Given the description of an element on the screen output the (x, y) to click on. 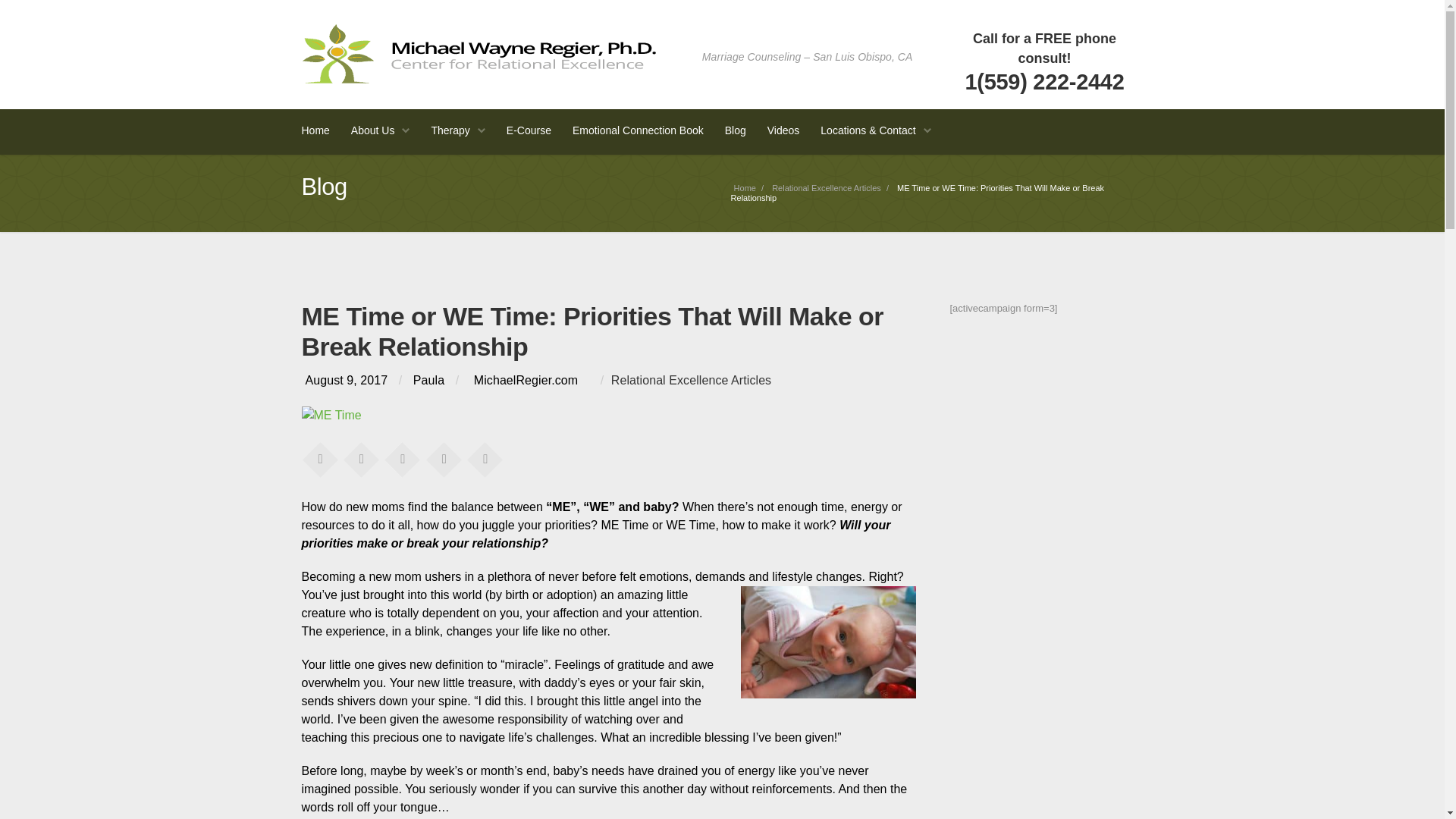
Share it on Email (485, 458)
Share on Facebook (319, 458)
Home (744, 187)
Relational Excellence Articles (825, 187)
Share on Pinterest (402, 458)
Share on LinkedIn (444, 458)
Relational Excellence Articles (691, 379)
E-Course (528, 131)
Emotional Connection Book (637, 131)
About Us (380, 131)
